Given the description of an element on the screen output the (x, y) to click on. 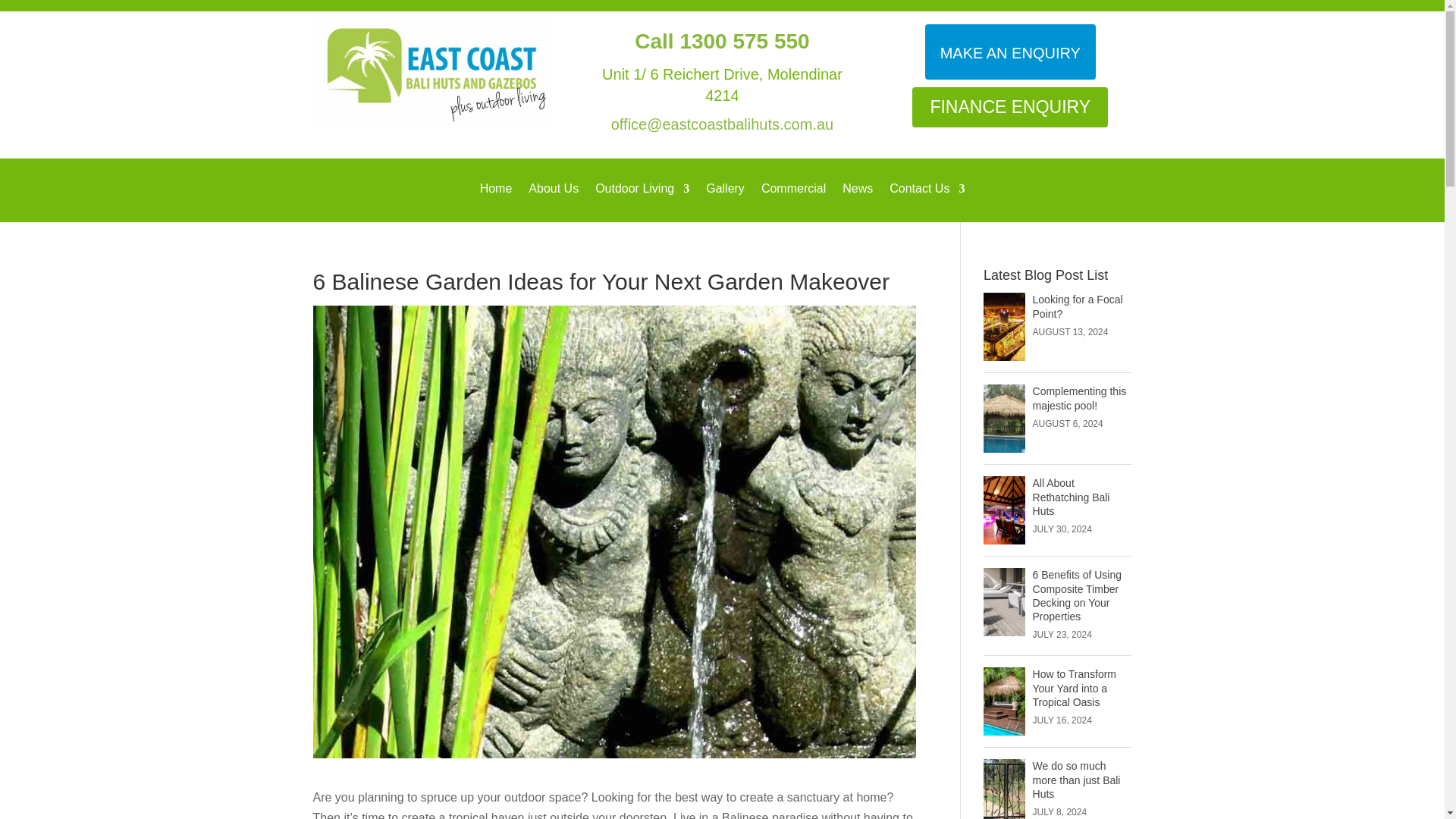
MAKE AN ENQUIRY (1010, 51)
1300 575 550 (744, 41)
Home (496, 199)
Commercial (793, 199)
Gallery (725, 199)
logo (433, 73)
Outdoor Living (641, 199)
Contact Us (926, 199)
FINANCE ENQUIRY (1010, 106)
News (857, 199)
